Given the description of an element on the screen output the (x, y) to click on. 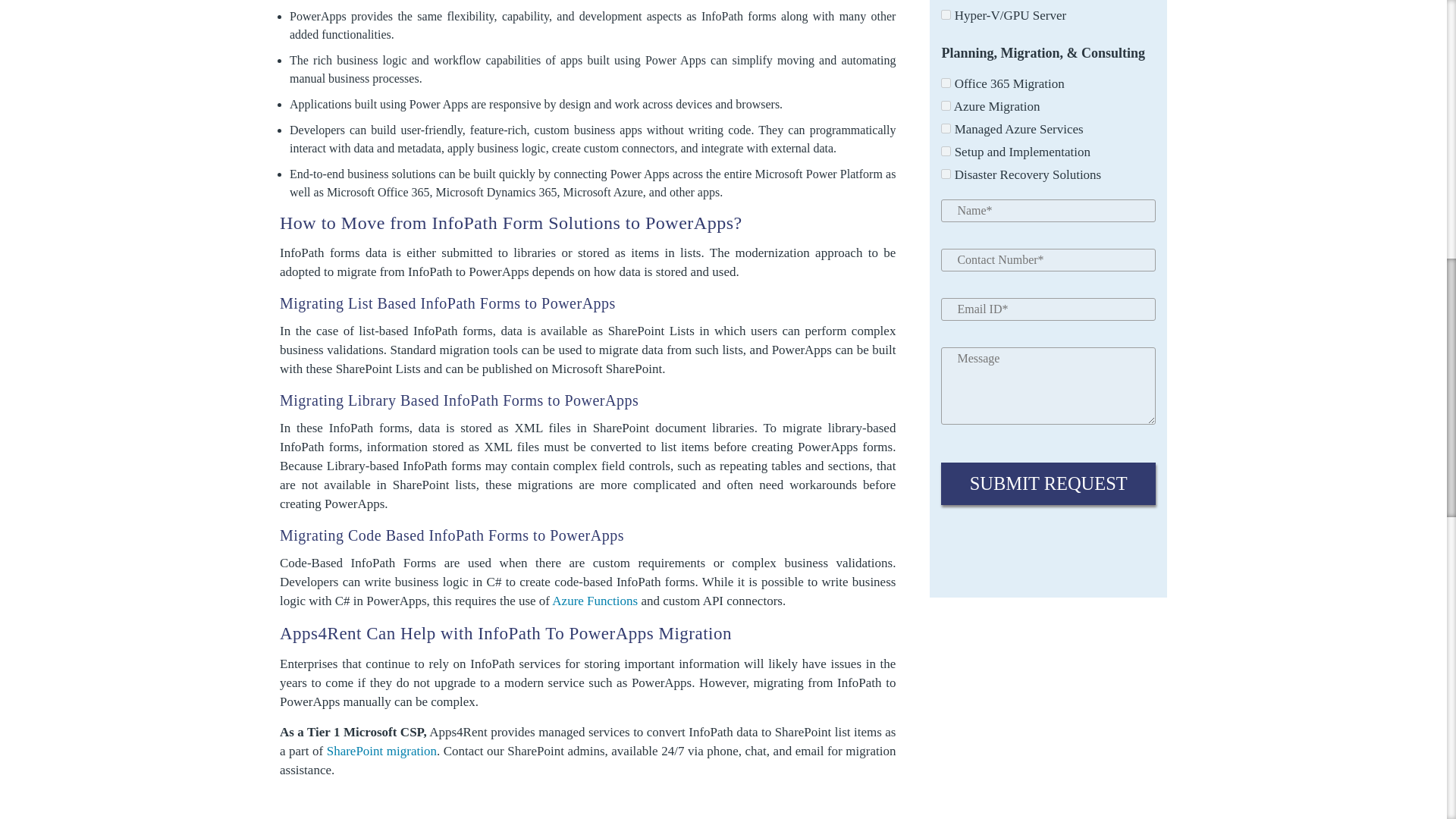
Azure Migration (945, 105)
Azure Functions (594, 600)
SharePoint migration (381, 750)
Office 365 Migration (945, 82)
SUBMIT REQUEST (1048, 483)
